Given the description of an element on the screen output the (x, y) to click on. 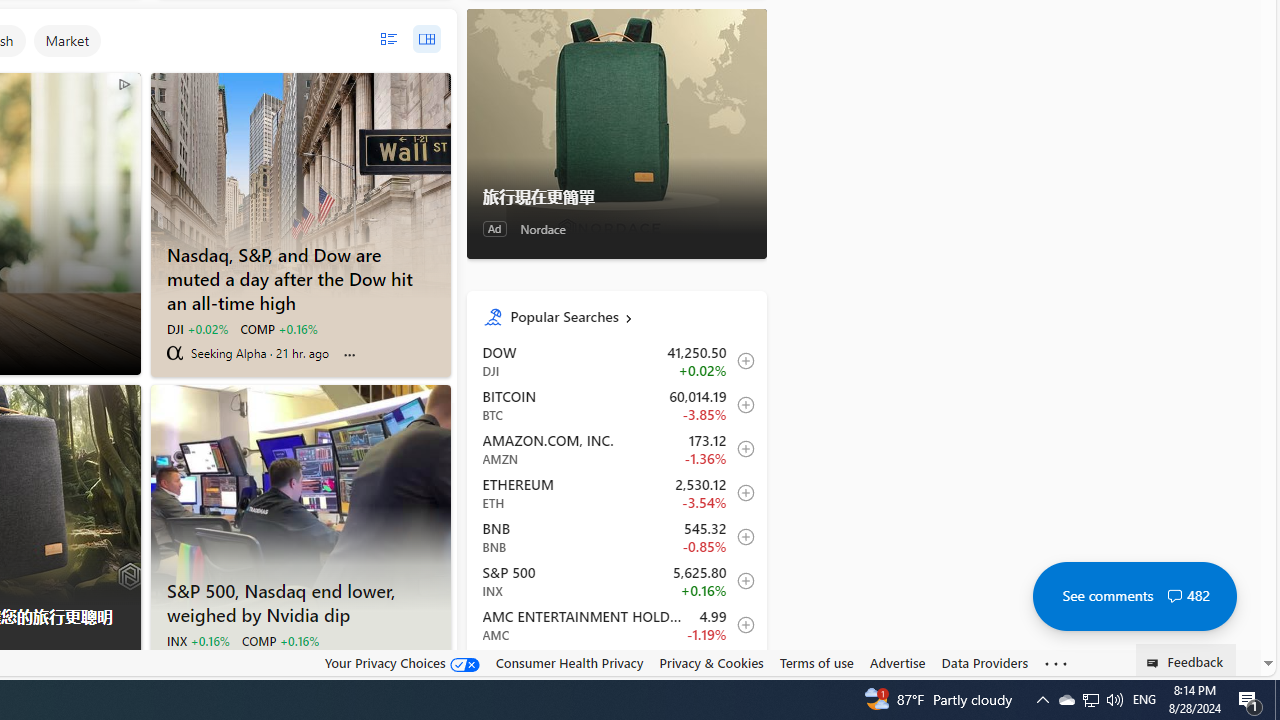
grid layout (426, 39)
Data Providers (983, 662)
ADA Cardano decrease 0.36 -0.00 -1.26% itemundefined (615, 669)
Your Privacy Choices (401, 663)
Reuters (174, 664)
Ad (493, 228)
Data Providers (983, 663)
S&P 500, Nasdaq end lower, weighed by Nvidia dip - Reuters (300, 600)
Terms of use (816, 662)
AdChoices (123, 669)
